Given the description of an element on the screen output the (x, y) to click on. 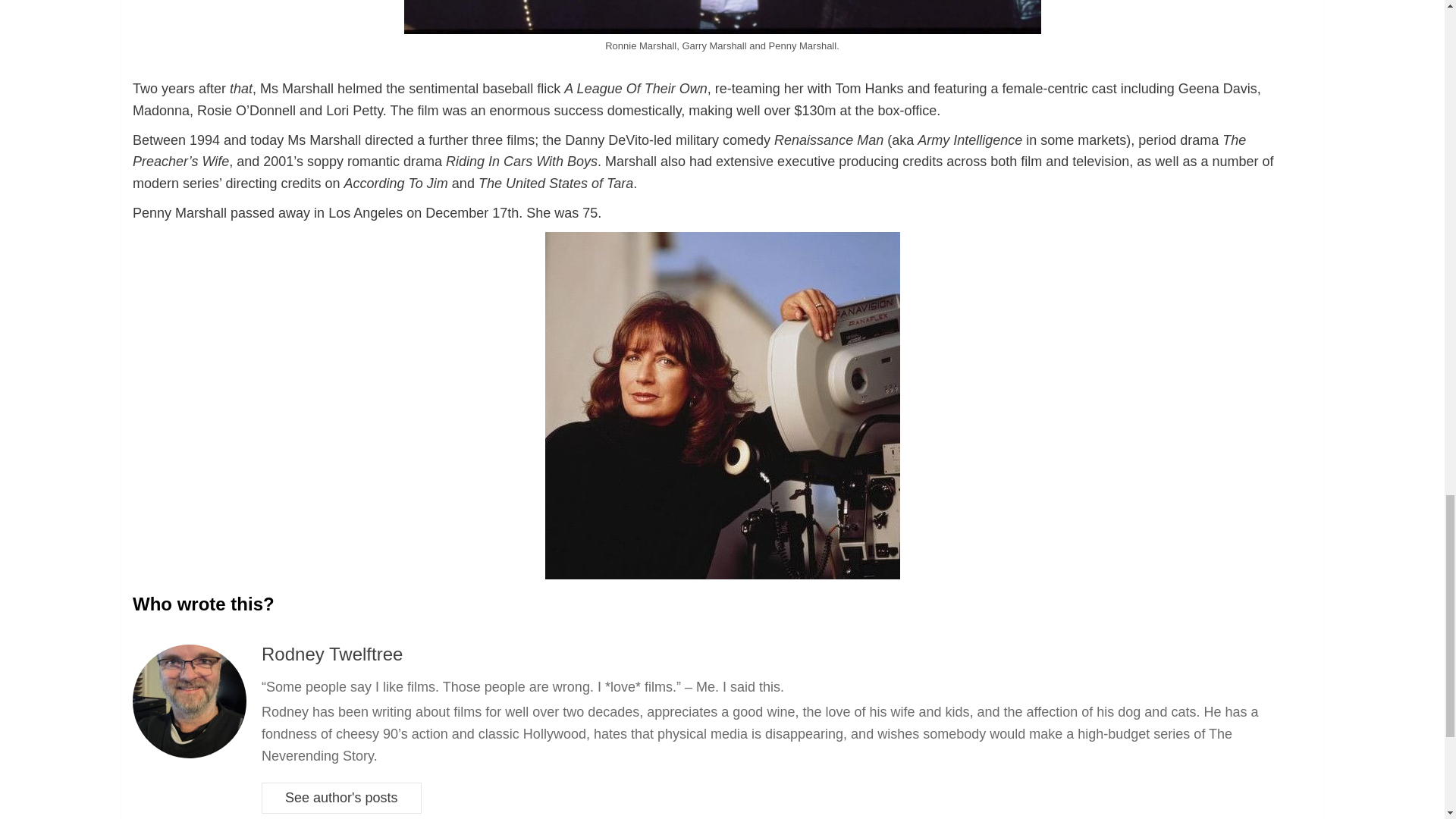
Rodney Twelftree (332, 653)
See author's posts (342, 798)
